Given the description of an element on the screen output the (x, y) to click on. 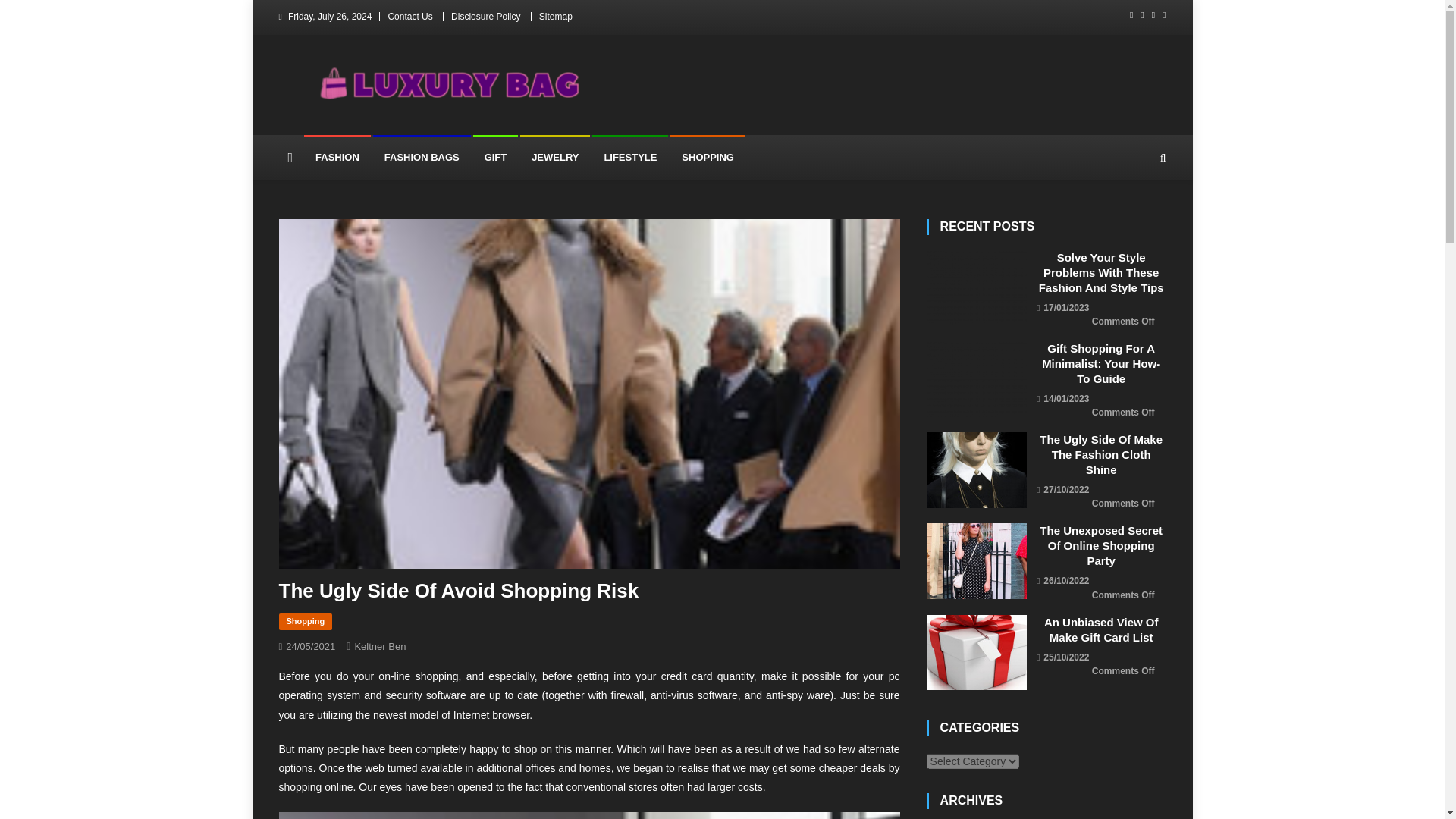
The Ugly Side of Make The Fashion Cloth Shine 8 (976, 469)
SHOPPING (707, 157)
FASHION BAGS (421, 157)
Contact Us (409, 16)
The Unexposed Secret of Online Shopping Party 9 (976, 560)
FASHION (337, 157)
Keltner Ben (379, 645)
An Unbiased View of Make Gift Card List 10 (976, 653)
LIFESTYLE (630, 157)
JEWELRY (554, 157)
Disclosure Policy (485, 16)
Luxury Bag (345, 119)
Gift Shopping For A Minimalist: Your How-To Guide 7 (976, 378)
